Given the description of an element on the screen output the (x, y) to click on. 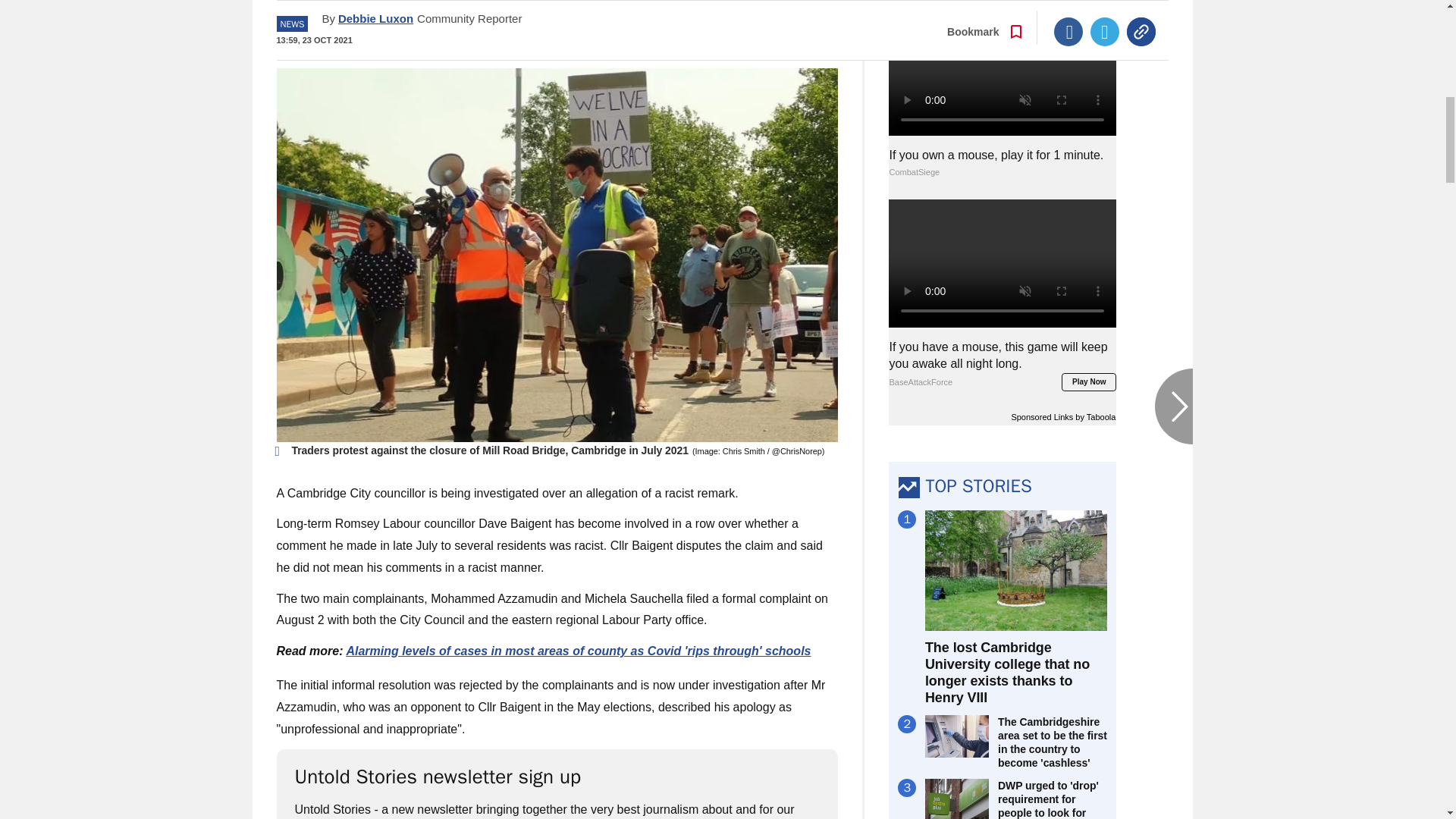
Go (730, 34)
